Given the description of an element on the screen output the (x, y) to click on. 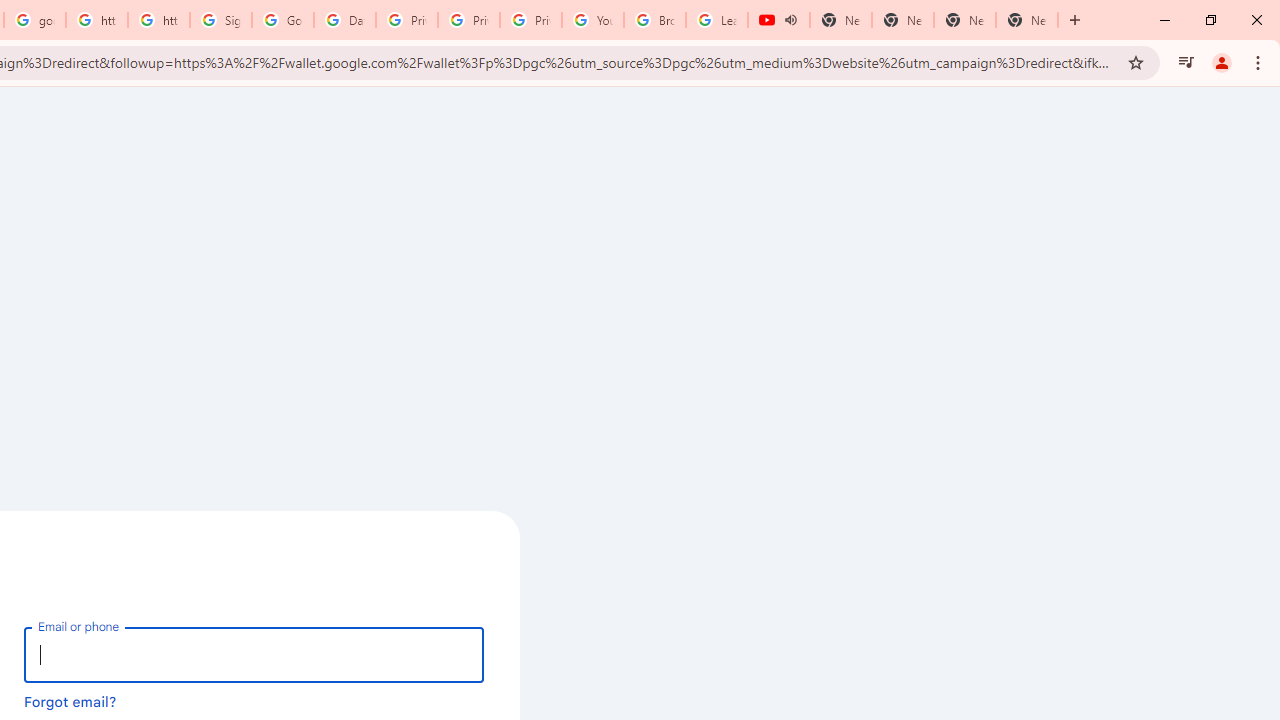
https://scholar.google.com/ (158, 20)
Privacy Help Center - Policies Help (468, 20)
Sign in - Google Accounts (220, 20)
